Given the description of an element on the screen output the (x, y) to click on. 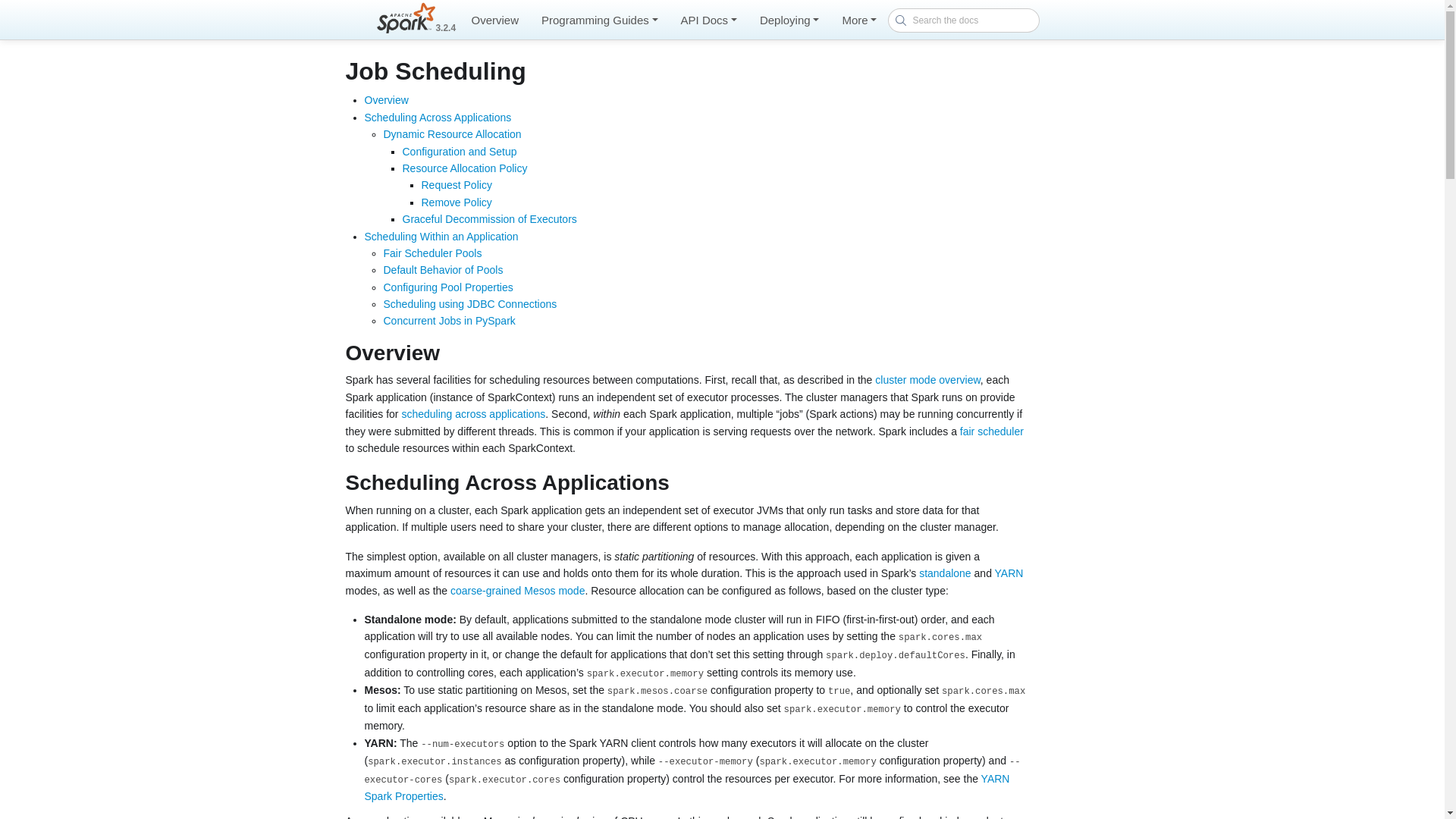
API Docs (708, 20)
Deploying (789, 20)
Overview (494, 20)
Submit your search query. (900, 20)
More (858, 20)
Programming Guides (599, 20)
